Given the description of an element on the screen output the (x, y) to click on. 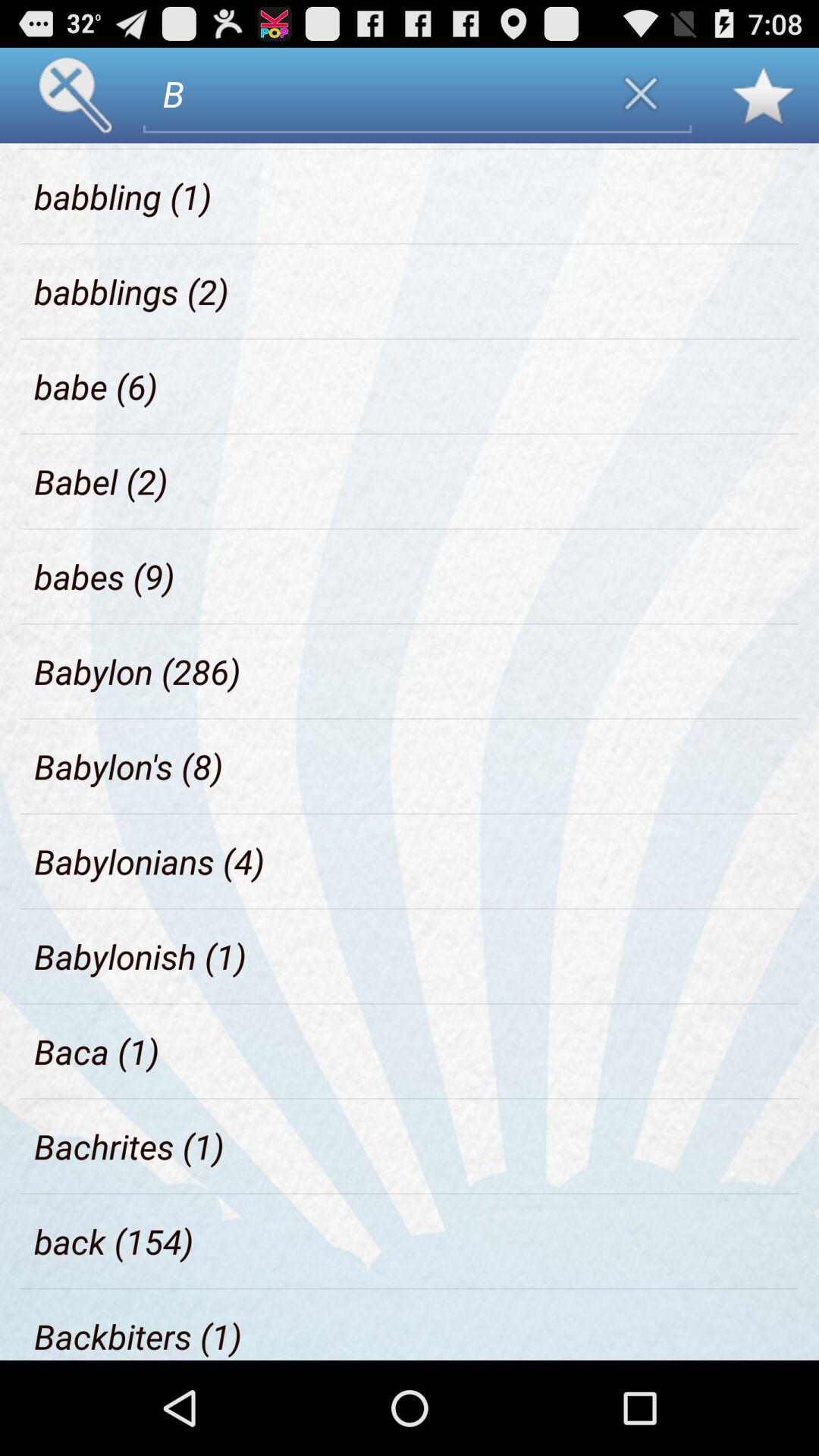
select the item above babe (6) (131, 291)
